Given the description of an element on the screen output the (x, y) to click on. 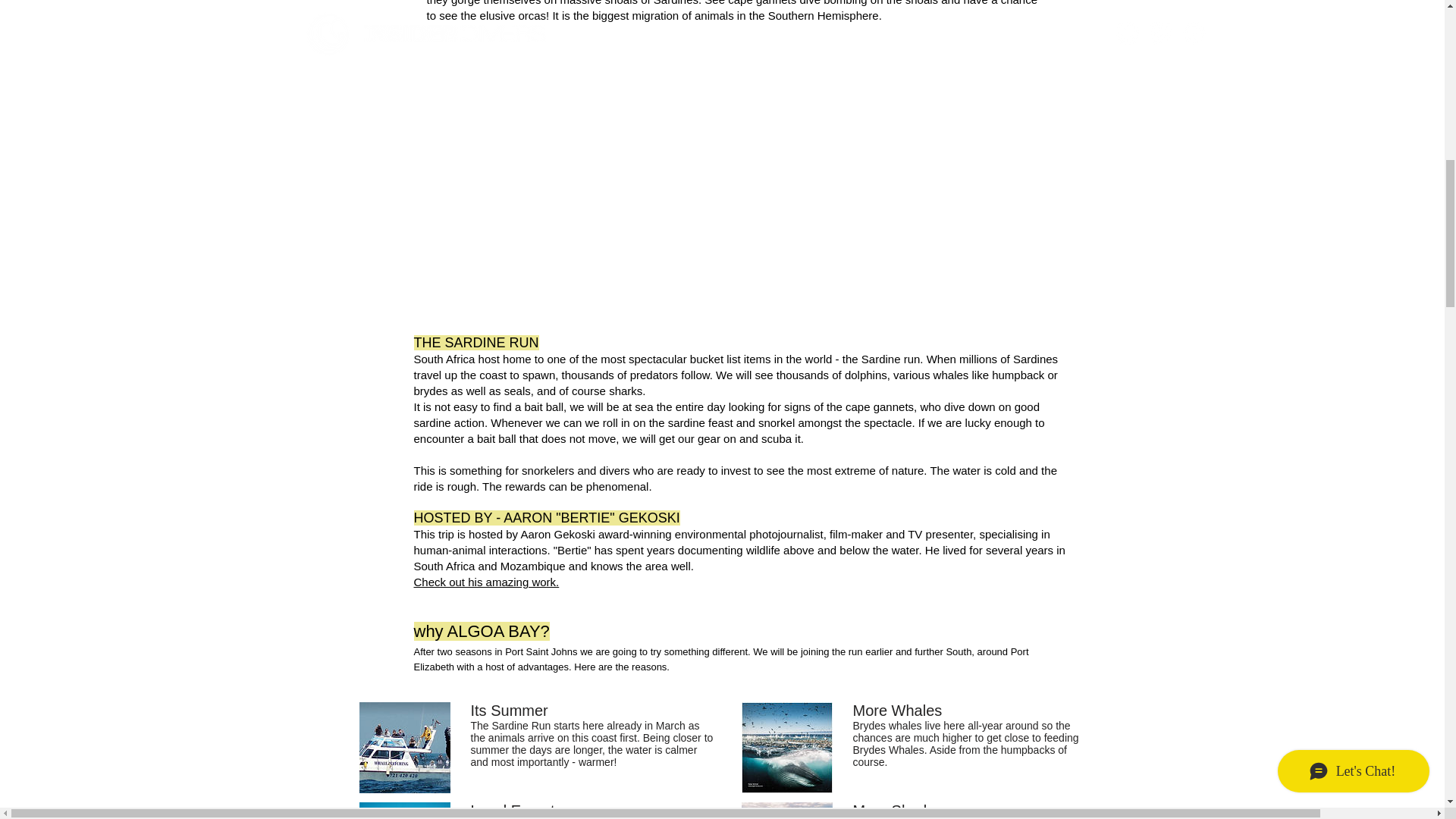
Check out his amazing work. (486, 581)
breaching whale ab marine.jpg (404, 747)
